Given the description of an element on the screen output the (x, y) to click on. 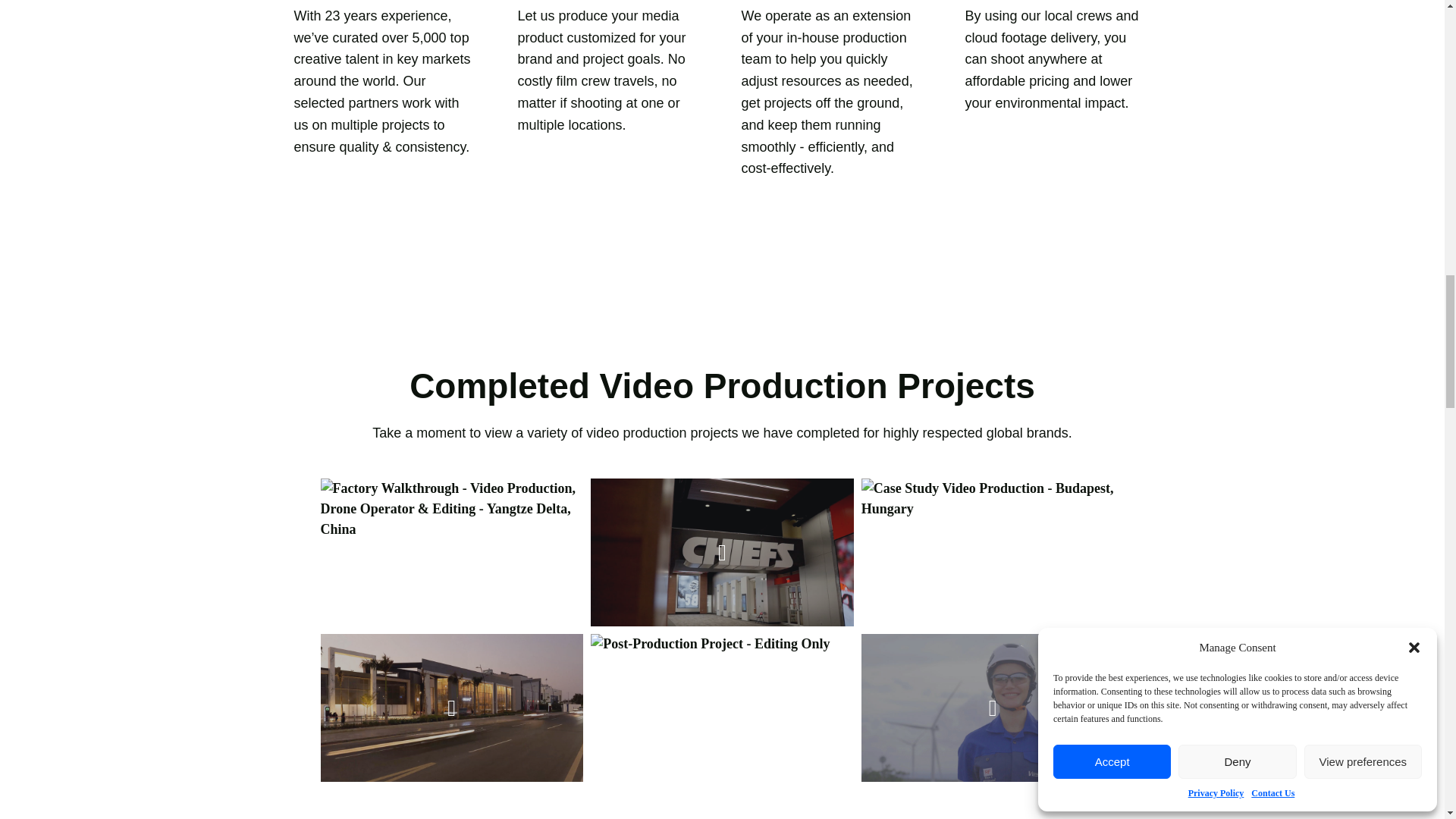
Case Study Video Production - Budapest, Hungary (992, 552)
Post-Production Project - Editing Only (722, 707)
Design Walkthrough - Saudi Arabia (451, 707)
Customer Experience Video with MangoApps - Kansas City, USA (722, 552)
